Given the description of an element on the screen output the (x, y) to click on. 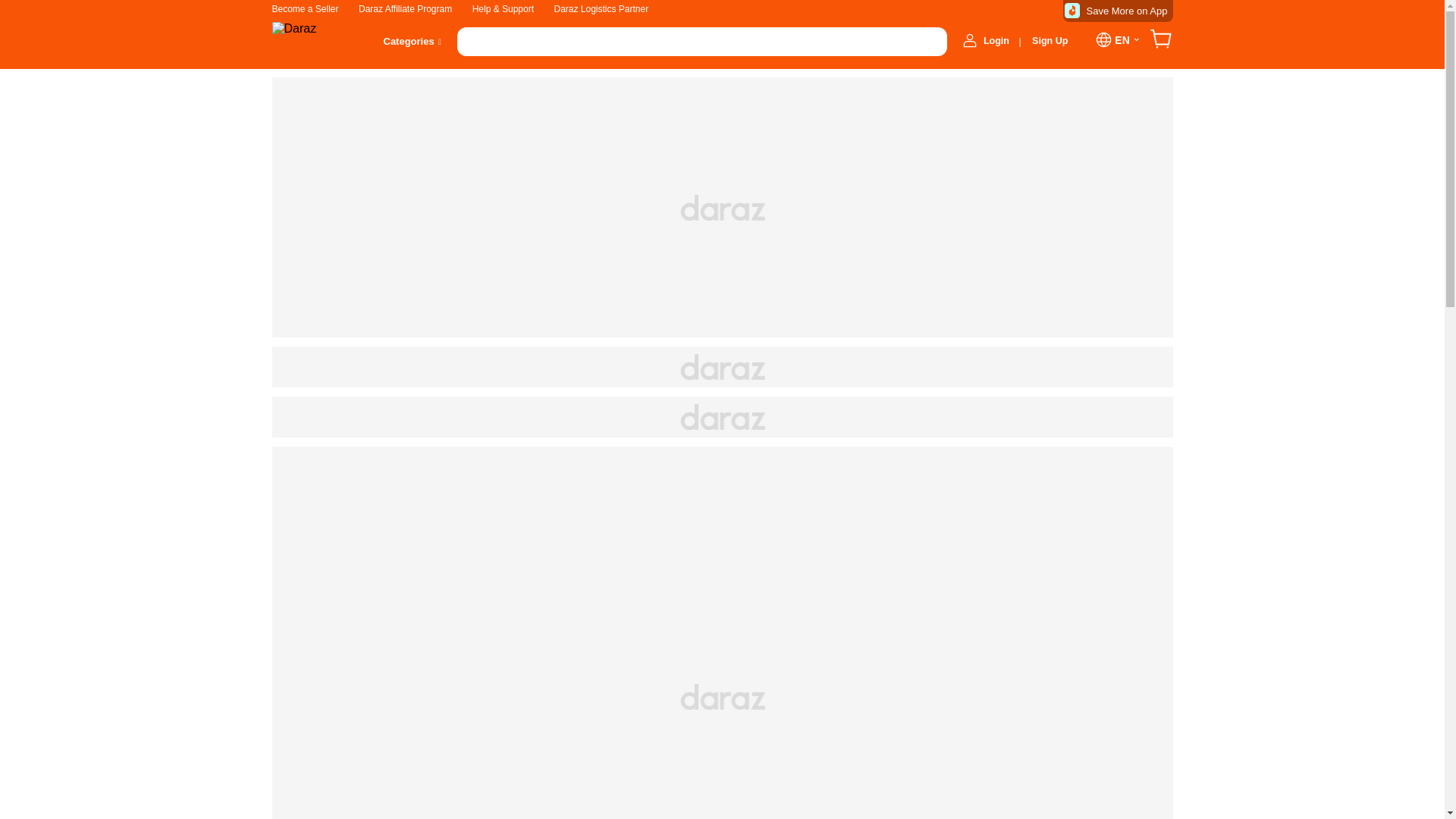
Login (996, 40)
Sign Up (1049, 39)
Daraz Logistics Partner (600, 9)
Become a Seller (303, 9)
Daraz Affiliate Program (404, 9)
Categories (408, 41)
